Given the description of an element on the screen output the (x, y) to click on. 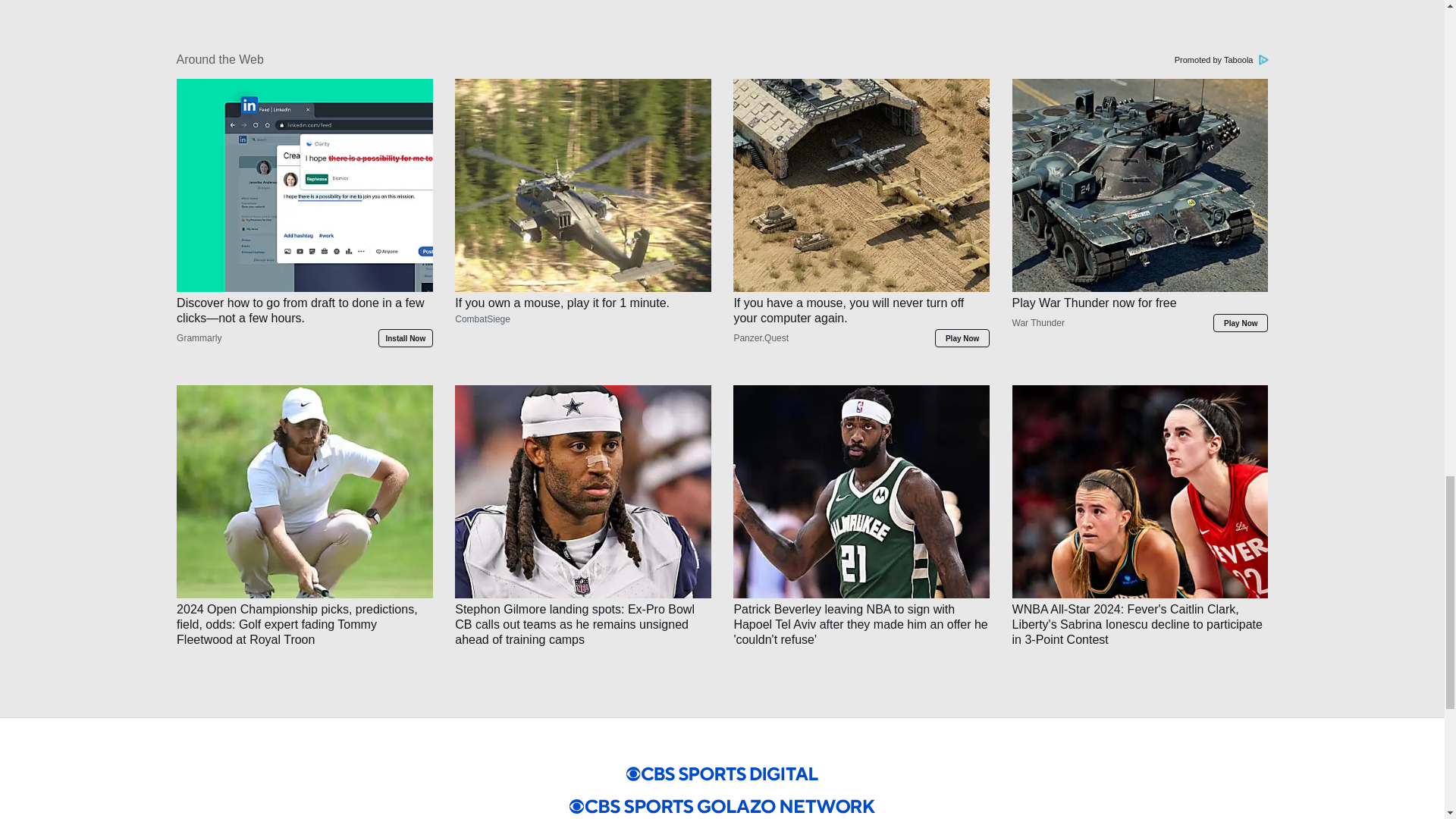
Play War Thunder now for free (1139, 328)
If you own a mouse, play it for 1 minute. (582, 328)
